Given the description of an element on the screen output the (x, y) to click on. 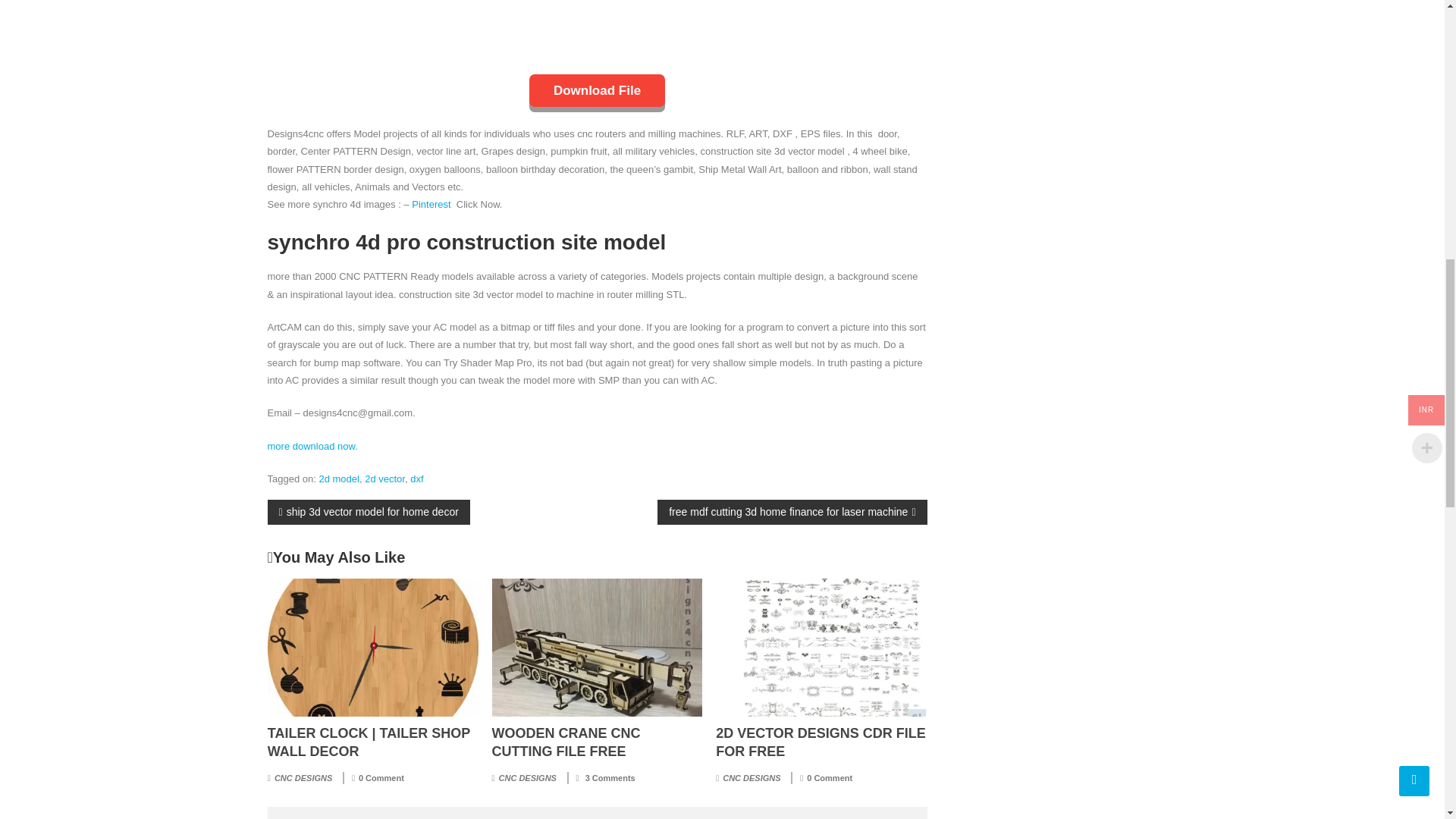
more download now. (311, 446)
Pinterest (430, 204)
Download File (597, 90)
